Given the description of an element on the screen output the (x, y) to click on. 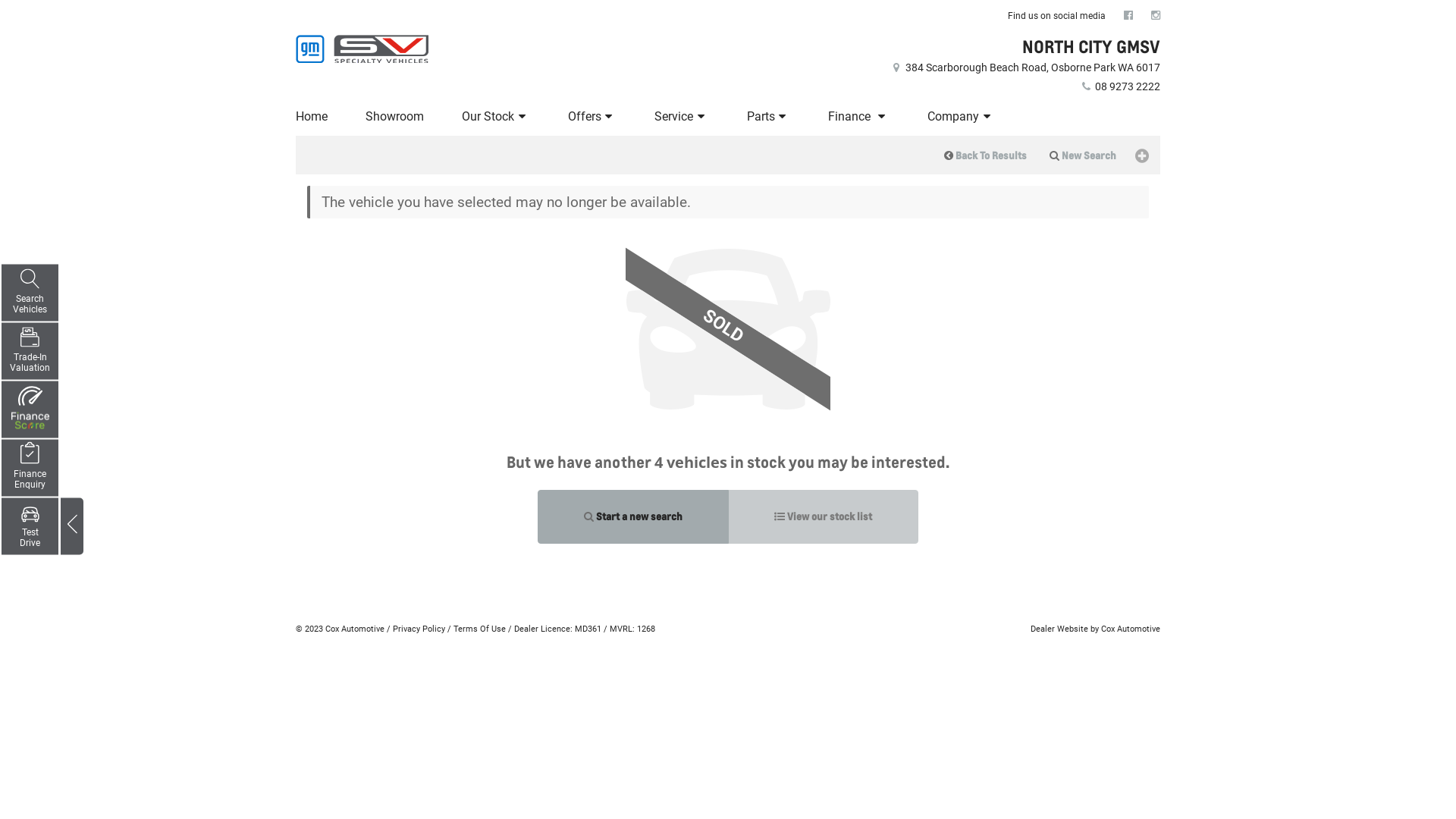
Start a new search Element type: text (632, 516)
Dealer Website Element type: text (1059, 628)
Finance Element type: text (858, 116)
Trade-In
Valuation Element type: text (29, 351)
08 9273 2222 Element type: text (1119, 86)
Finance
Enquiry Element type: text (29, 467)
New Search Element type: text (1082, 155)
Home Element type: text (313, 116)
Service Element type: text (681, 116)
Back To Results Element type: text (985, 155)
Showroom Element type: text (394, 116)
Terms Of Use Element type: text (479, 628)
Facebook Element type: hover (1127, 14)
Parts Element type: text (768, 116)
View our stock list Element type: text (823, 516)
Test
Drive Element type: text (29, 525)
384 Scarborough Beach Road, Osborne Park WA 6017 Element type: text (1024, 67)
Instagram Element type: hover (1155, 14)
Our Stock Element type: text (495, 116)
Offers Element type: text (592, 116)
Search
Vehicles Element type: text (29, 291)
Privacy Policy Element type: text (418, 628)
Company Element type: text (960, 116)
